Given the description of an element on the screen output the (x, y) to click on. 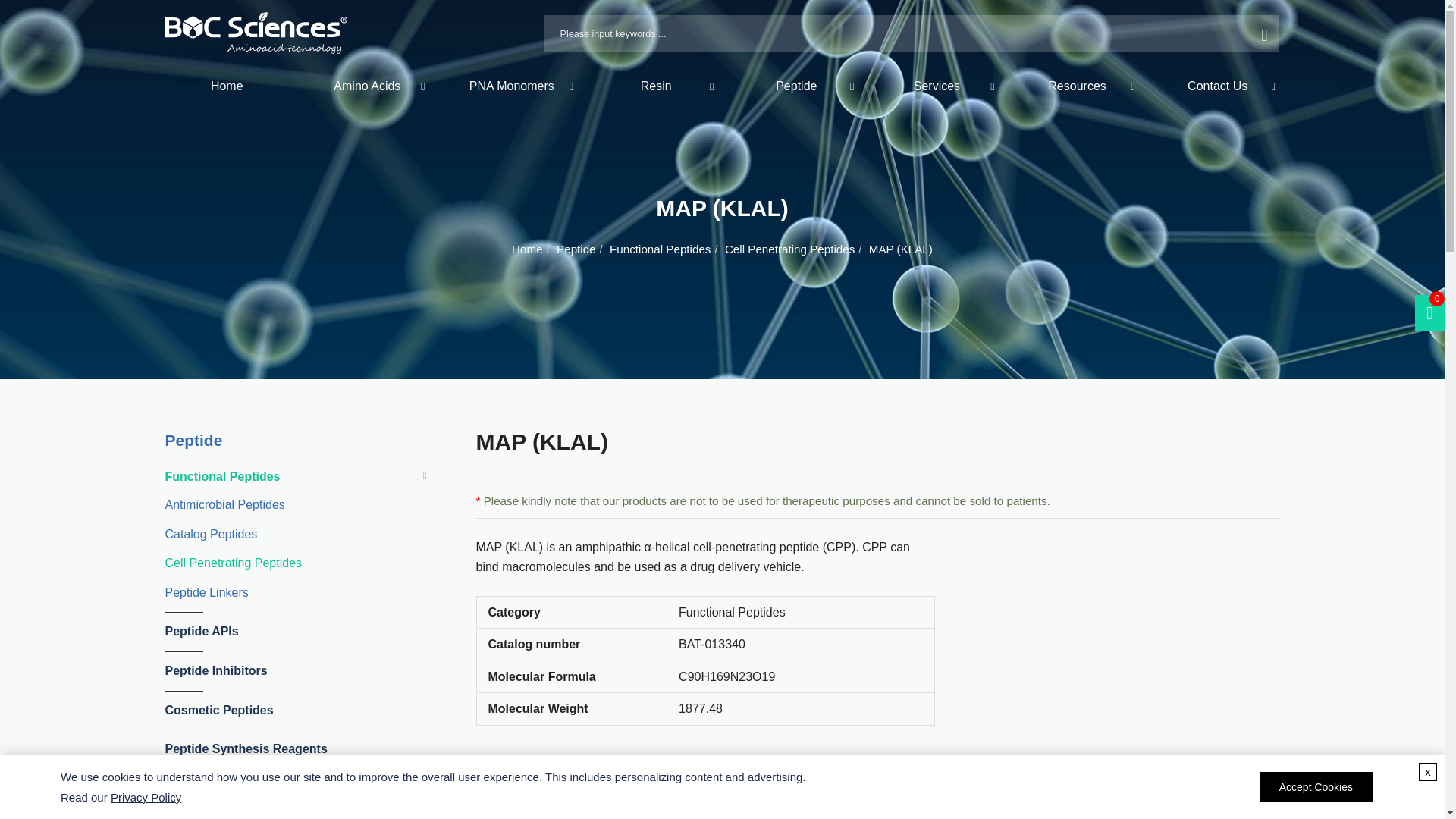
Peptide Inhibitors (276, 670)
Peptide (796, 85)
Home (225, 85)
Resin (655, 85)
PNA Monomers (511, 85)
Peptide Linkers (276, 592)
Amino Acids (366, 85)
Cosmetic Peptides (276, 710)
Peptide APIs (276, 631)
Peptide Synthesis Reagents (276, 749)
Antimicrobial Peptides (276, 505)
Catalog Peptides (276, 534)
Others (276, 788)
Cell Penetrating Peptides (276, 563)
Functional Peptides (276, 475)
